Given the description of an element on the screen output the (x, y) to click on. 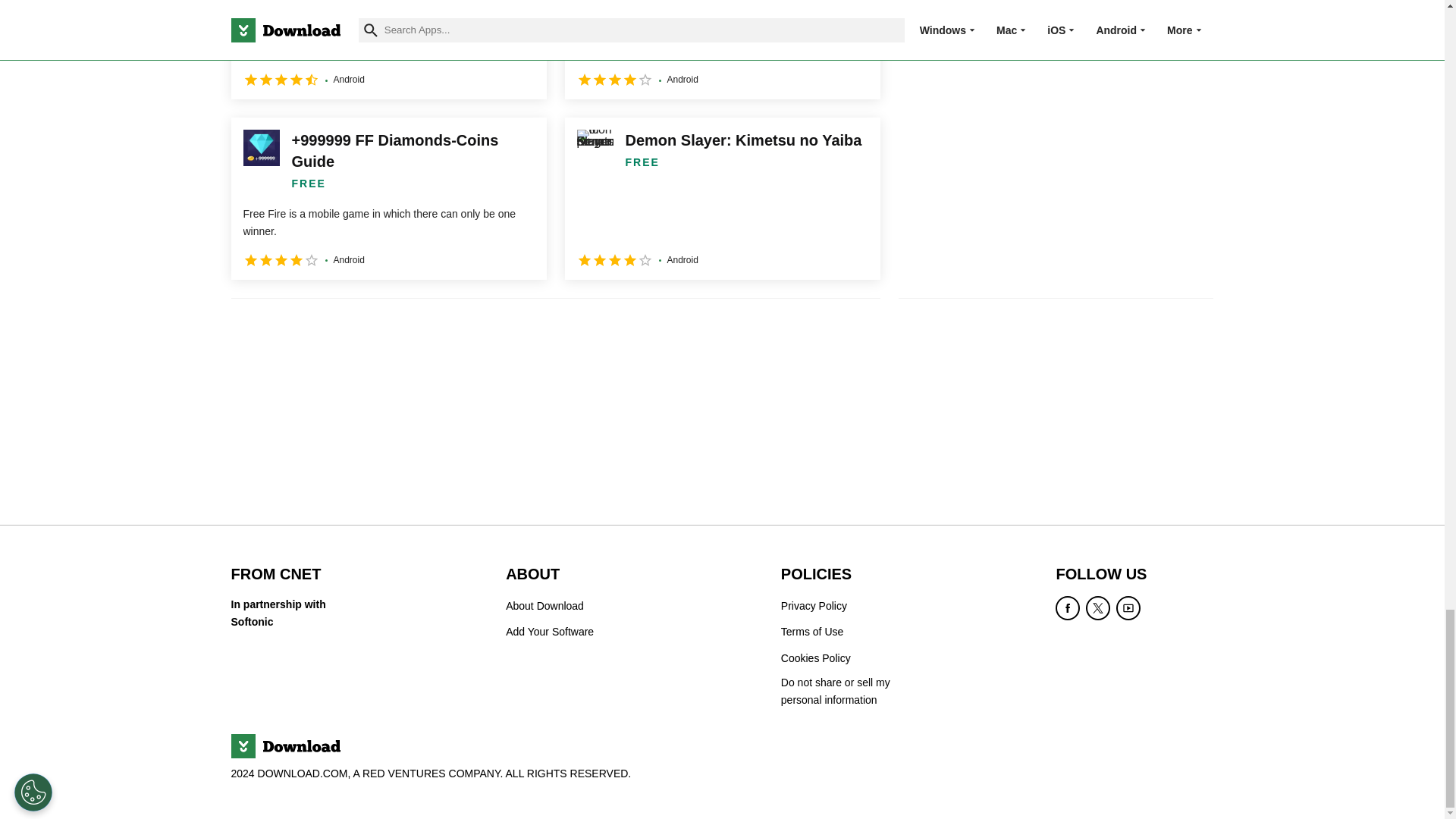
JMComic2 (388, 49)
Download.com (284, 745)
Become a Facebook fan of Download.com (1067, 607)
Duolingo Math (721, 49)
Demon Slayer: Kimetsu no Yaiba (721, 198)
